Given the description of an element on the screen output the (x, y) to click on. 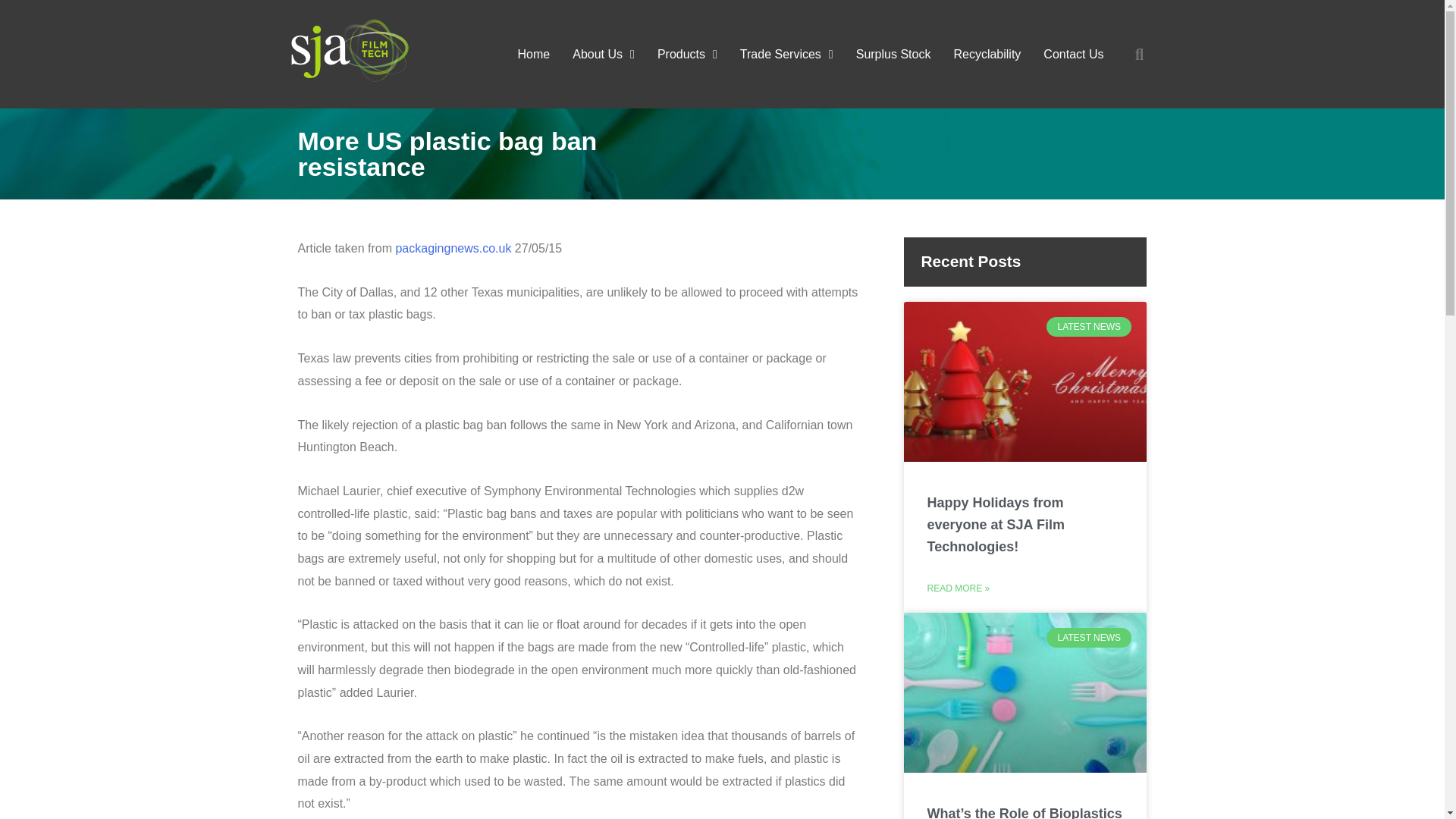
About Us (603, 54)
Products (687, 54)
Recyclability (987, 54)
Contact Us (1073, 54)
Trade Services (786, 54)
Surplus Stock (893, 54)
